Given the description of an element on the screen output the (x, y) to click on. 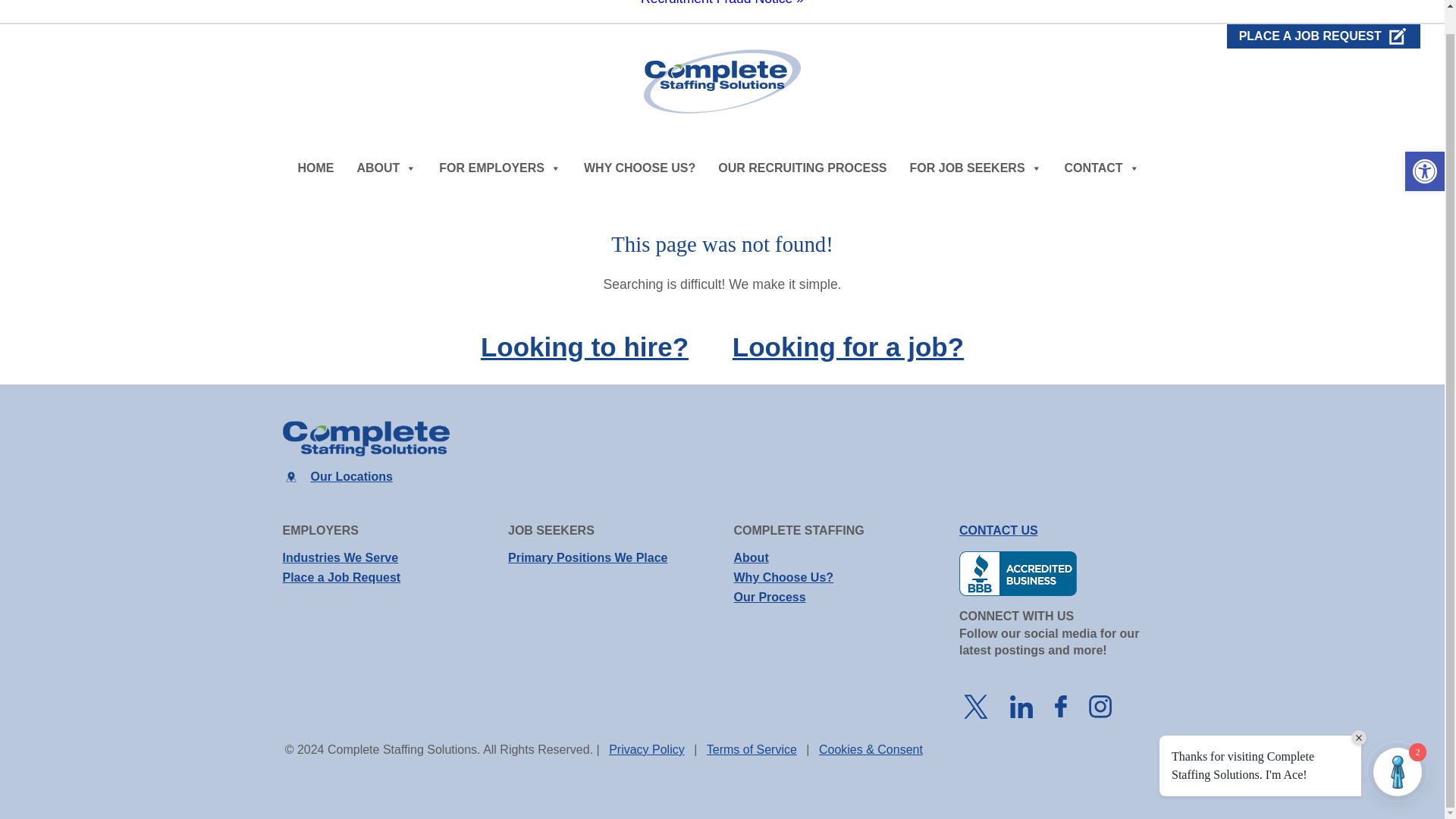
FOR EMPLOYERS (499, 168)
2 (1397, 747)
OUR RECRUITING PROCESS (801, 168)
PLACE A JOB REQUEST (1324, 36)
FOR JOB SEEKERS (975, 168)
HOME (314, 168)
WHY CHOOSE US? (639, 168)
ABOUT (386, 168)
Accessibility Tools (1424, 146)
